Given the description of an element on the screen output the (x, y) to click on. 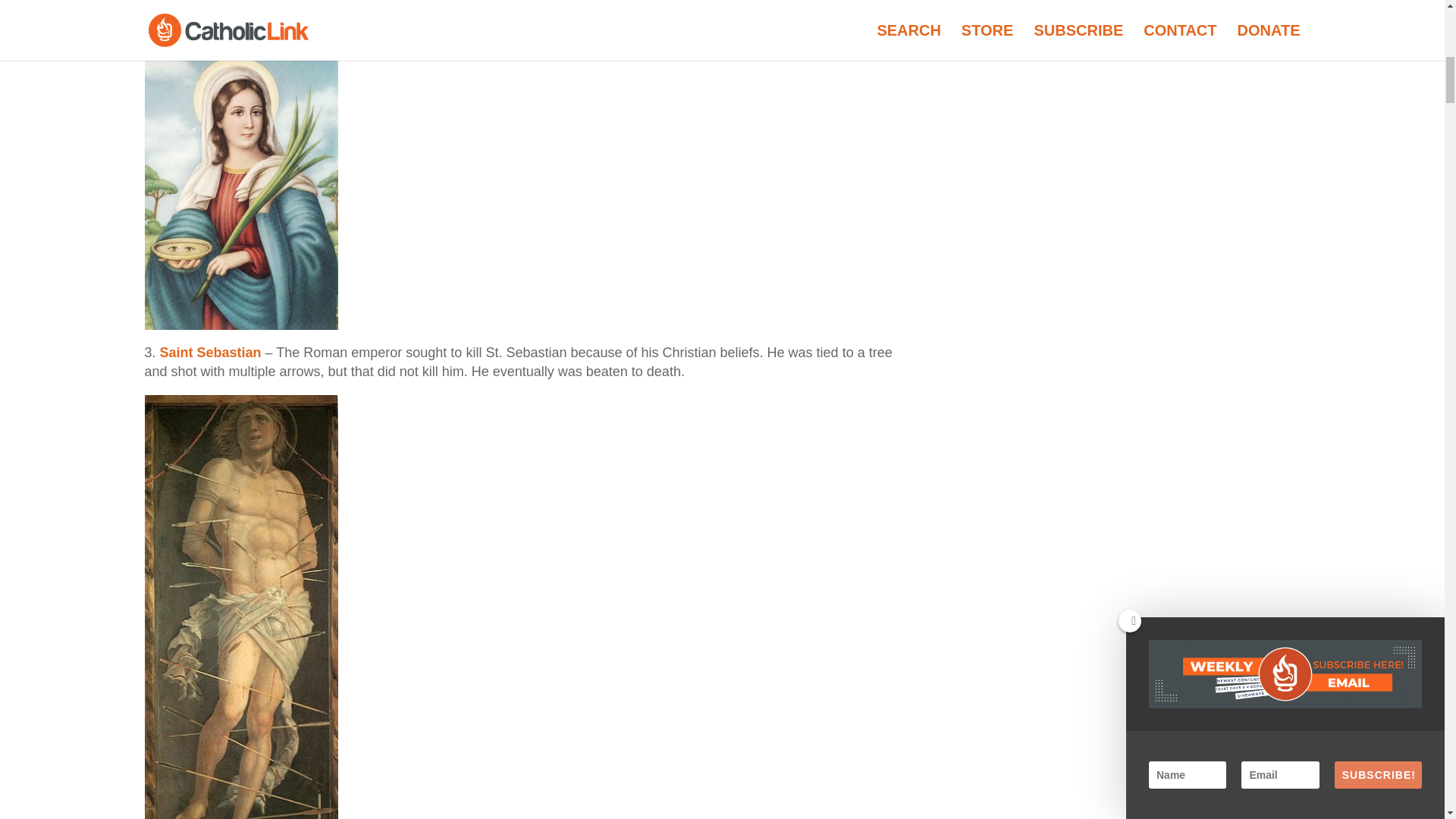
Saint Lucy (194, 2)
Saint Sebastian (211, 352)
